Given the description of an element on the screen output the (x, y) to click on. 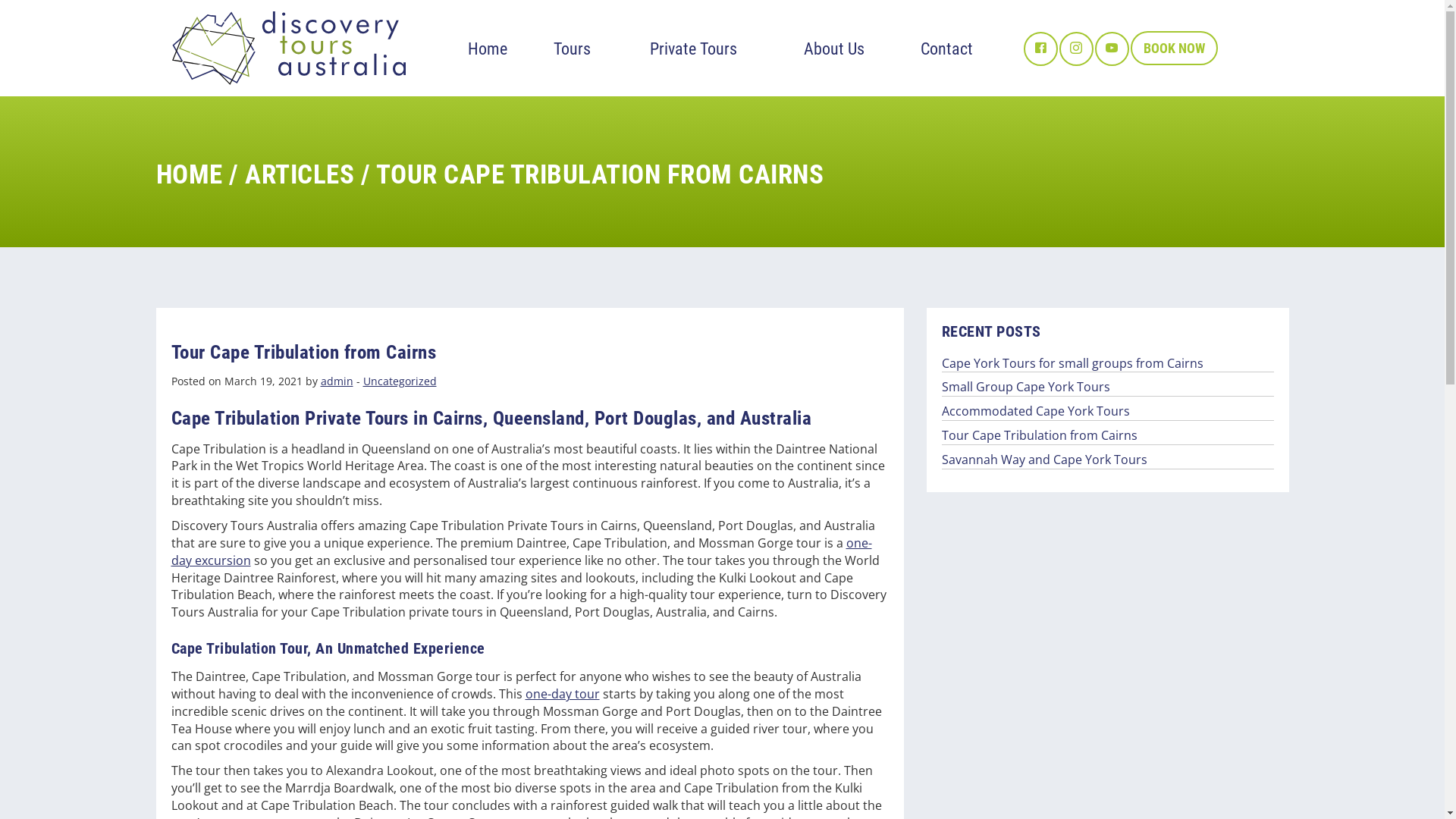
Cape York Tours for small groups from Cairns Element type: text (1107, 363)
Savannah Way and Cape York Tours Element type: text (1107, 460)
Home Element type: text (486, 48)
Private Tours Element type: text (693, 48)
admin Element type: text (336, 380)
BOOK NOW Element type: text (1173, 48)
HOME Element type: text (189, 174)
Tour Cape Tribulation from Cairns Element type: text (1107, 435)
one-day excursion Element type: text (521, 551)
Small Group Cape York Tours Element type: text (1107, 387)
Accommodated Cape York Tours Element type: text (1107, 411)
Tours Element type: text (571, 48)
one-day tour Element type: text (561, 693)
Uncategorized Element type: text (399, 380)
ARTICLES Element type: text (299, 174)
About Us Element type: text (833, 48)
Contact Element type: text (945, 48)
